Given the description of an element on the screen output the (x, y) to click on. 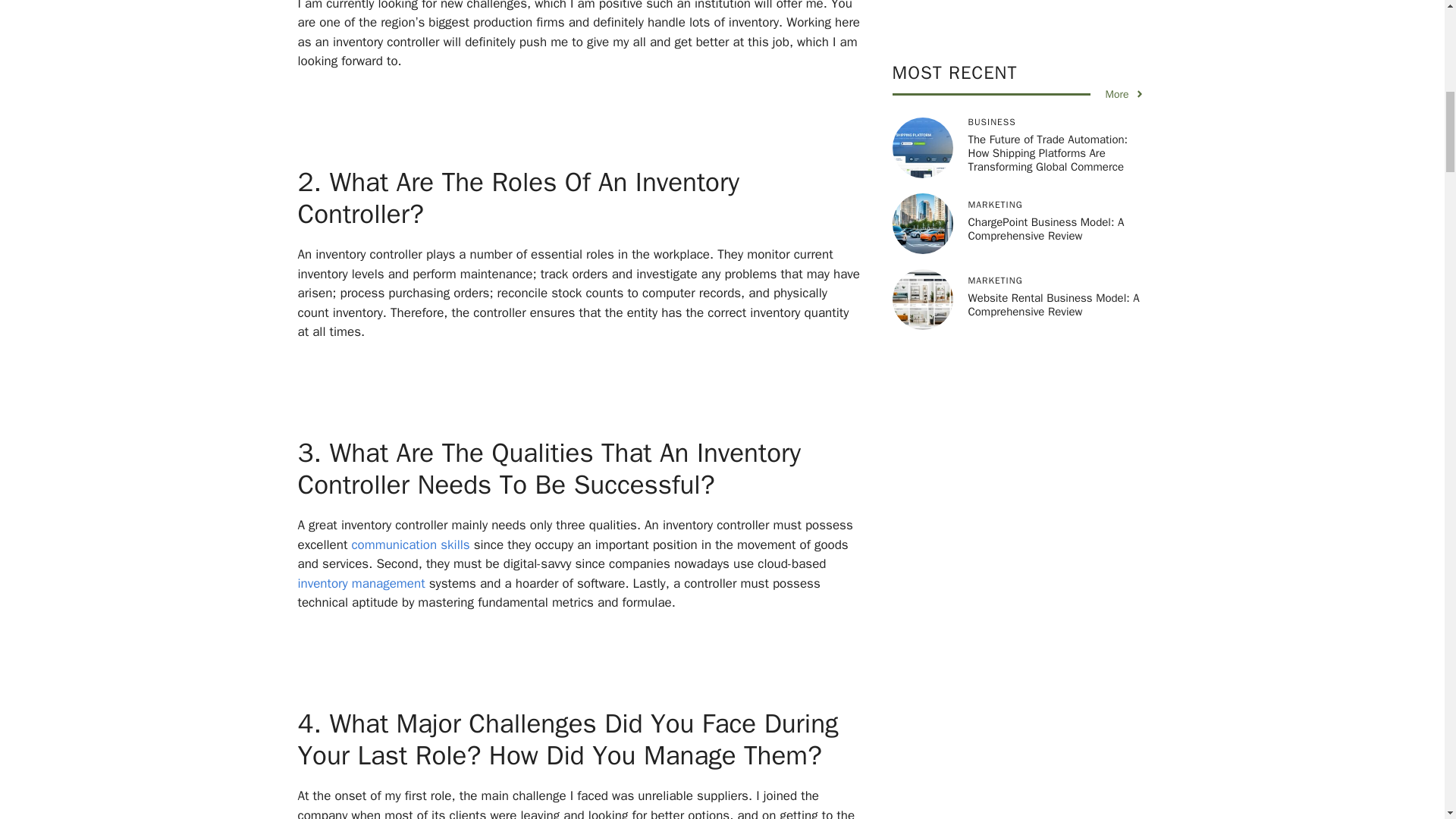
inventory management (361, 582)
inventory management (361, 582)
communication skills (409, 544)
Scroll back to top (1406, 720)
communication skills (409, 544)
